Given the description of an element on the screen output the (x, y) to click on. 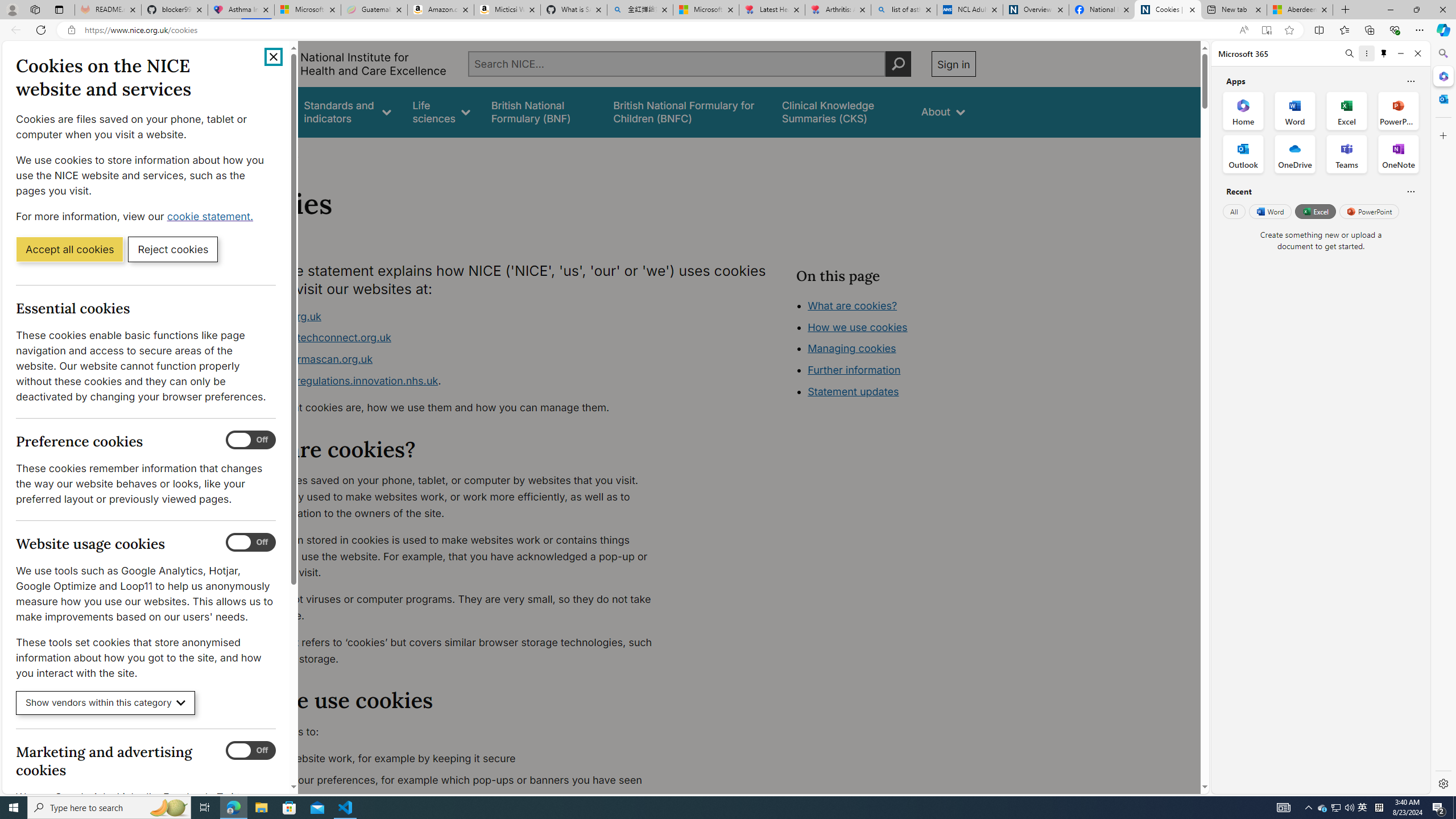
Outlook Office App (1243, 154)
www.ukpharmascan.org.uk (452, 359)
cookie statement. (Opens in a new window) (211, 215)
How we use cookies (857, 327)
Teams Office App (1346, 154)
OneNote Office App (1398, 154)
